Given the description of an element on the screen output the (x, y) to click on. 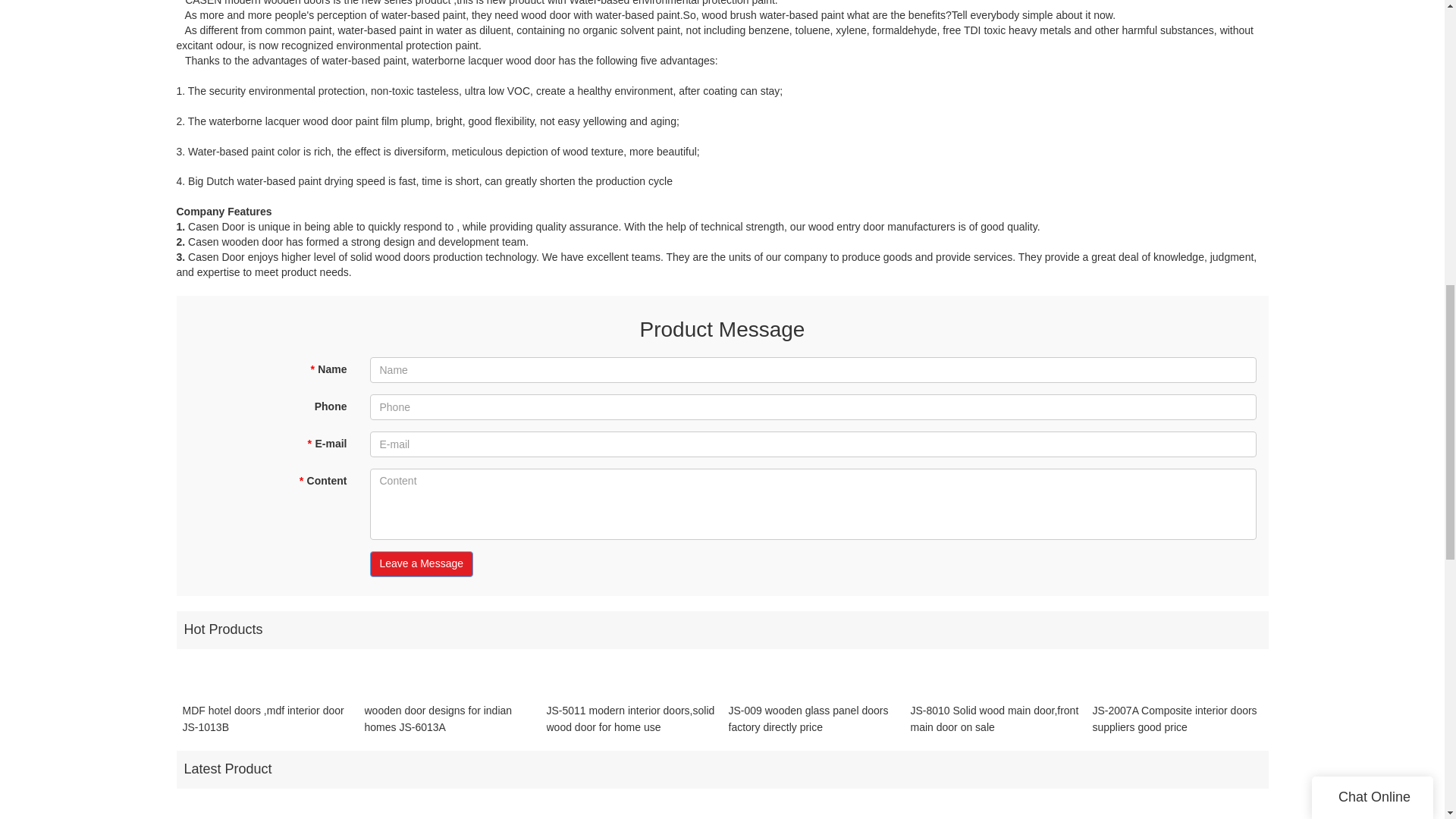
MDF hotel doors ,mdf interior door JS-1013B (267, 718)
JS-8010 Solid wood main door,front main door on sale (995, 718)
JS-5011  modern interior doors,solid wood door for home use (631, 718)
Leave a Message (421, 564)
wooden door designs for indian homes JS-6013A (449, 718)
JS-009 wooden glass panel doors factory directly price (813, 718)
JS-2007A Composite interior doors suppliers good price (1177, 718)
